Given the description of an element on the screen output the (x, y) to click on. 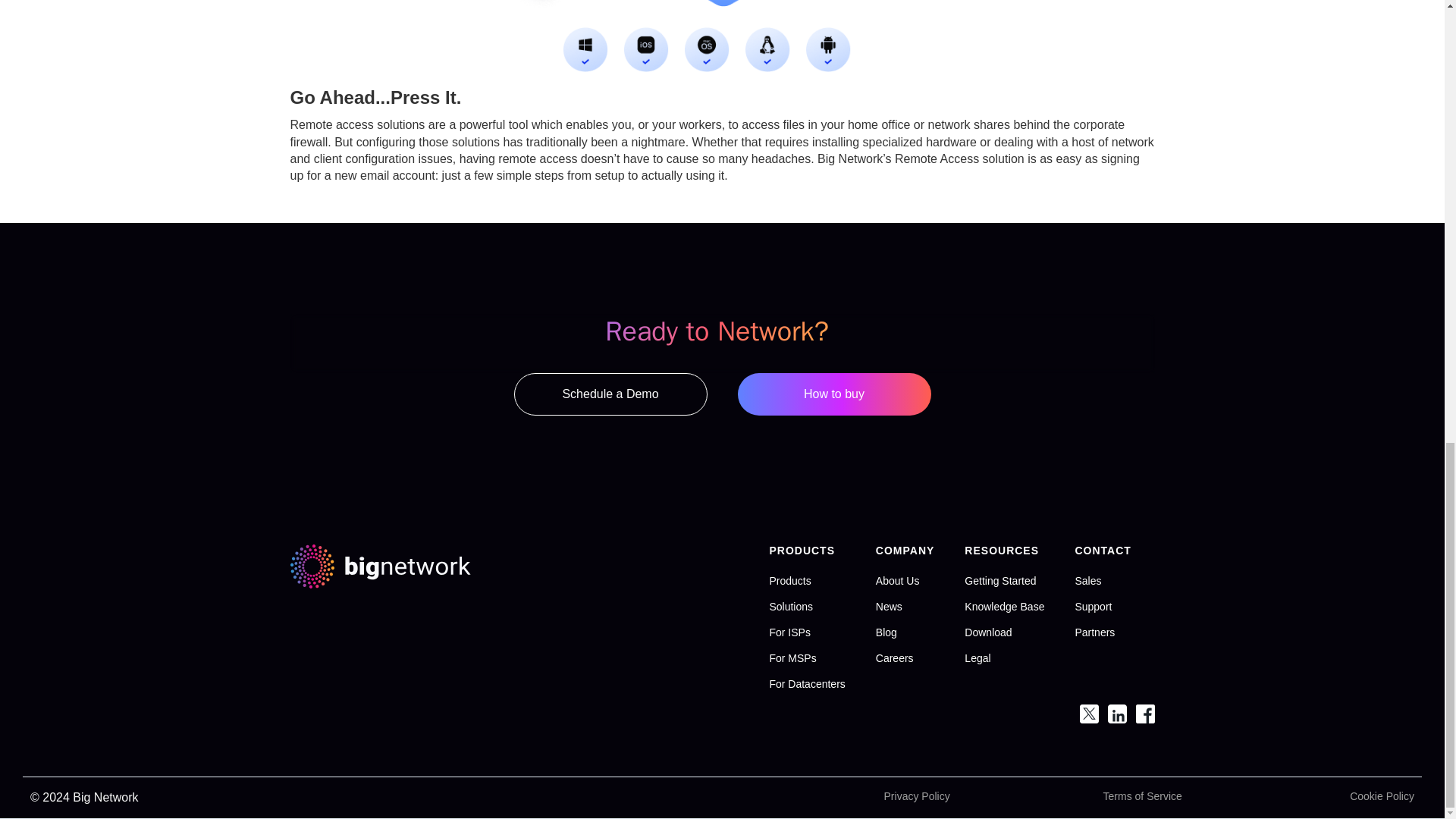
Blog (886, 632)
For MSPs (791, 657)
Careers (895, 657)
About Us (898, 580)
For Datacenters (806, 684)
How to buy (833, 394)
For ISPs (788, 632)
Getting Started (999, 580)
Solutions (790, 606)
News (889, 606)
Schedule a Demo (610, 394)
Products (789, 580)
